Given the description of an element on the screen output the (x, y) to click on. 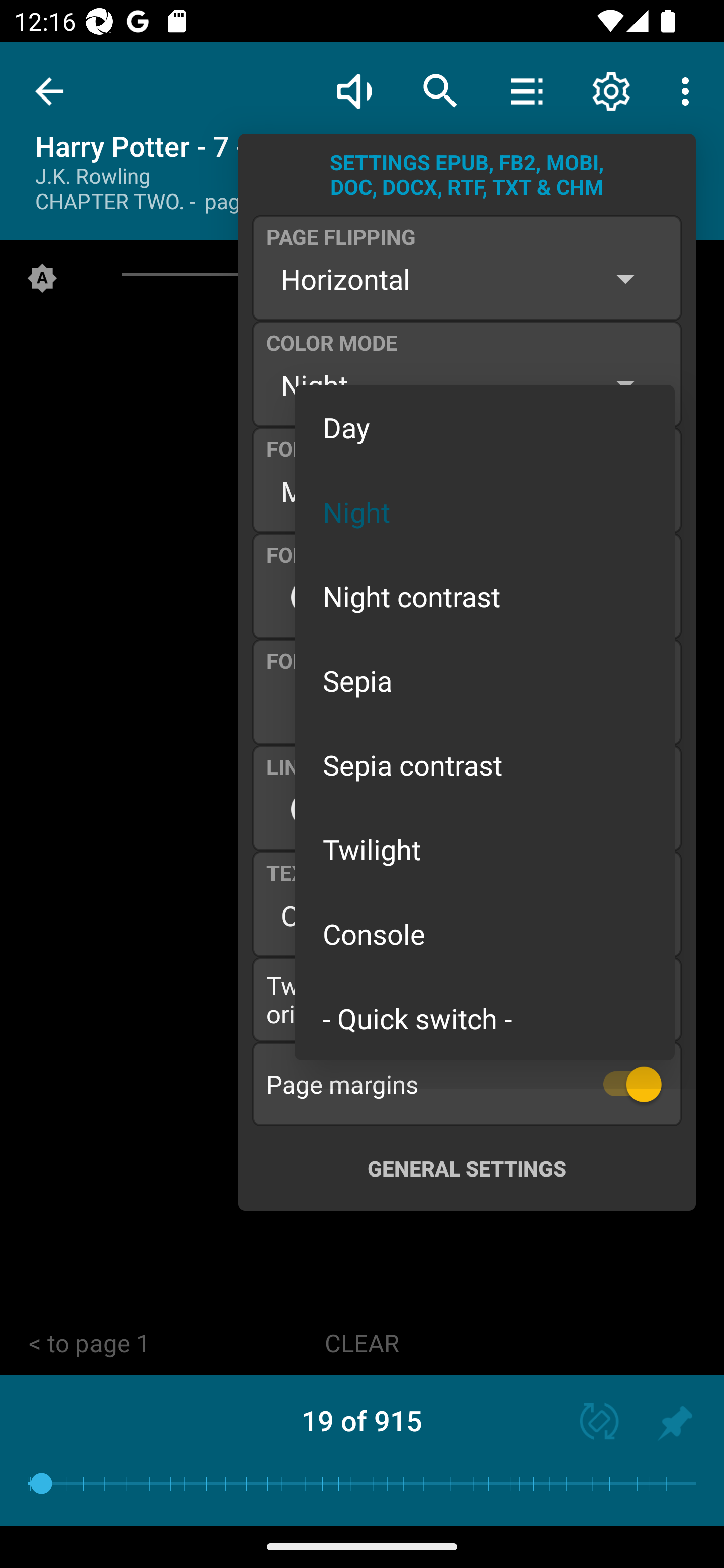
Day (484, 426)
Night (484, 510)
Night contrast (484, 595)
Sepia (484, 680)
Sepia contrast (484, 764)
Twilight (484, 849)
Console (484, 933)
- Quick switch - (484, 1017)
